Given the description of an element on the screen output the (x, y) to click on. 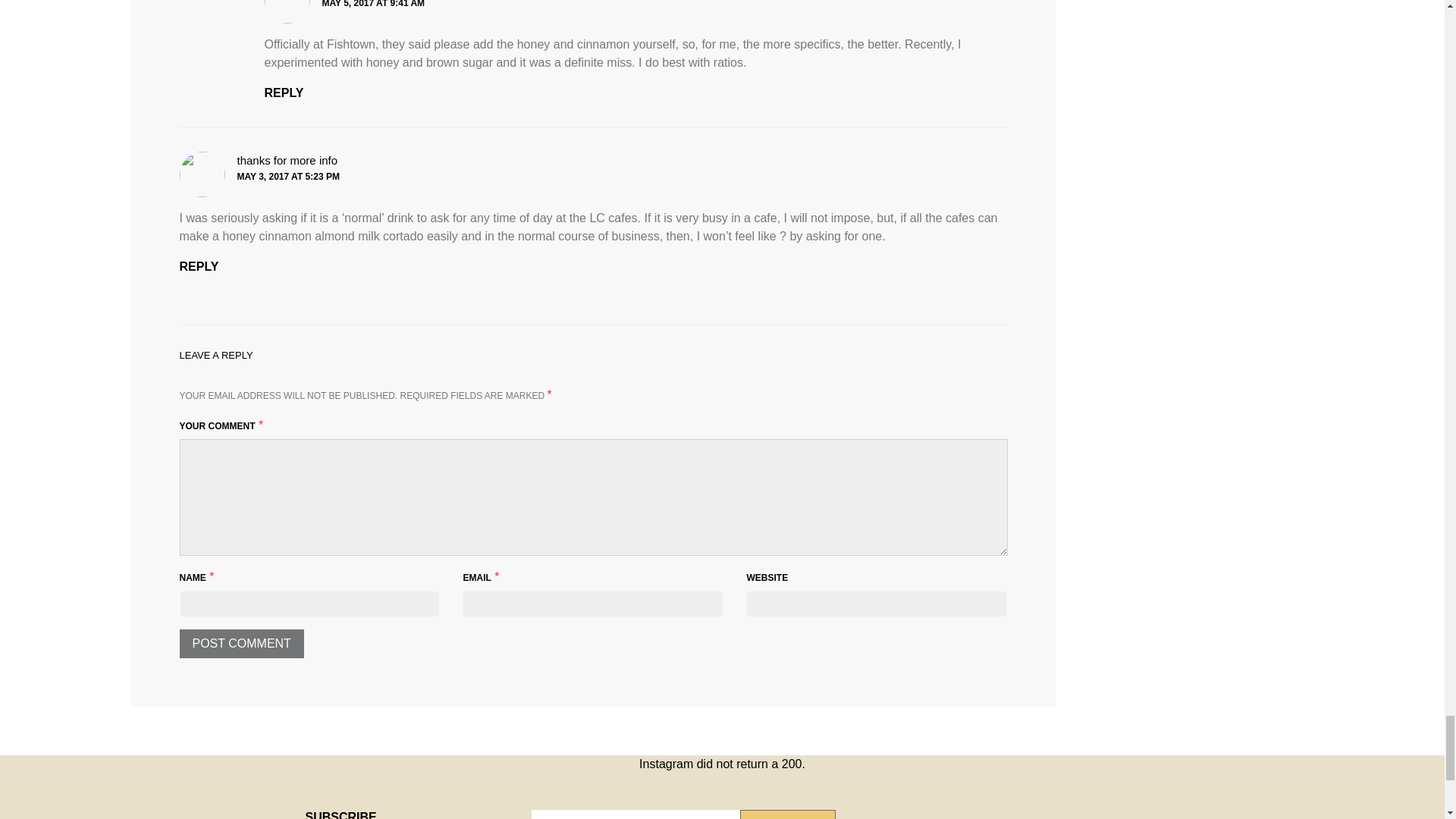
Post Comment (240, 643)
